Given the description of an element on the screen output the (x, y) to click on. 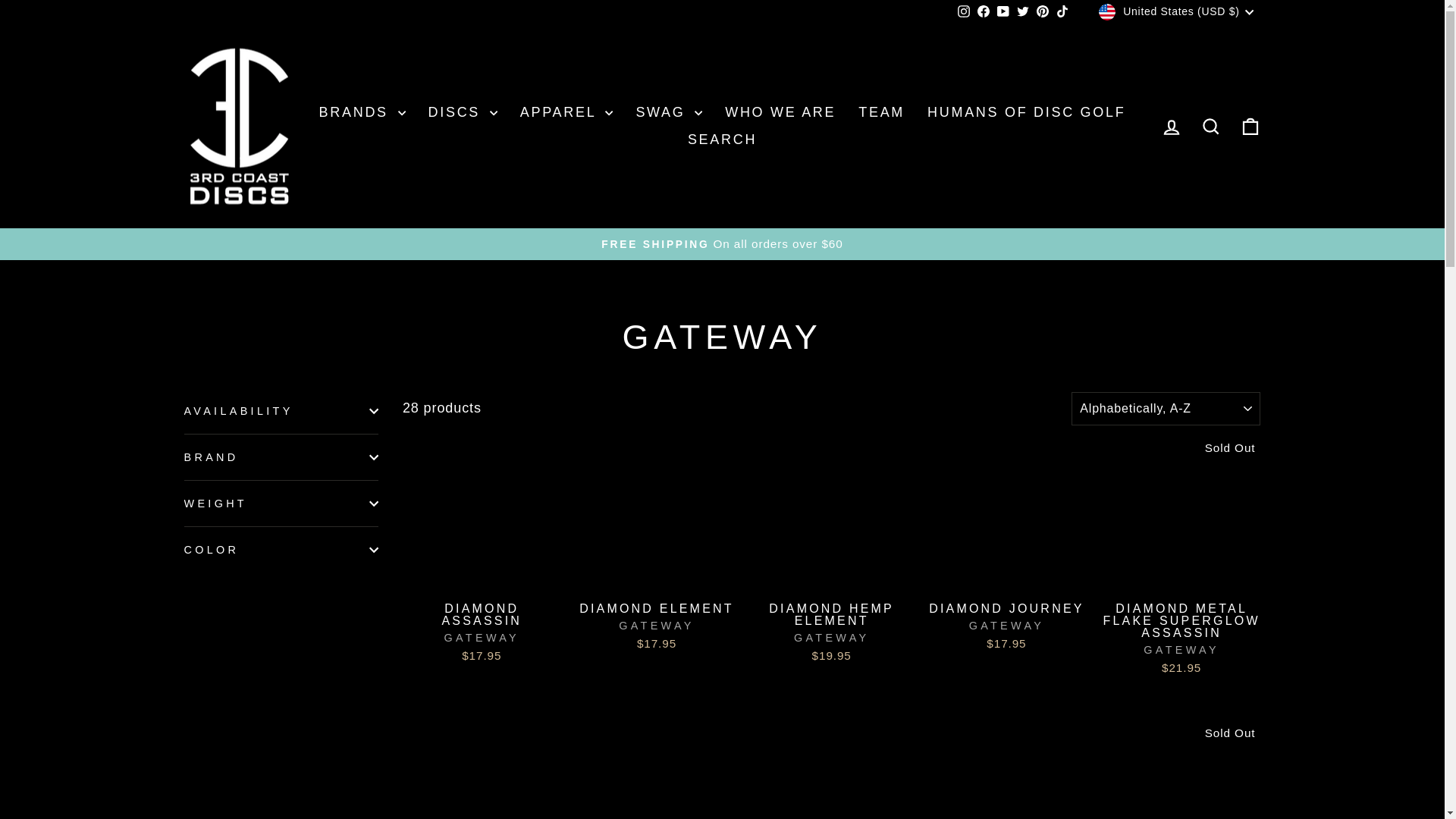
COLOR Element type: text (280, 549)
Facebook Element type: text (983, 11)
twitter
Twitter Element type: text (1022, 11)
Pinterest Element type: text (1042, 11)
ICON-SEARCH
SEARCH Element type: text (1210, 125)
DIAMOND ELEMENT
GATEWAY
$17.95 Element type: text (656, 625)
SEARCH Element type: text (722, 140)
DIAMOND JOURNEY
GATEWAY
$17.95 Element type: text (1006, 625)
ICON-BAG-MINIMAL
CART Element type: text (1249, 125)
WHO WE ARE Element type: text (780, 112)
TikTok Element type: text (1062, 11)
DIAMOND HEMP ELEMENT
GATEWAY
$19.95 Element type: text (831, 631)
instagram
Instagram Element type: text (963, 11)
TEAM Element type: text (881, 112)
HUMANS OF DISC GOLF Element type: text (1026, 112)
BRAND Element type: text (280, 457)
YouTube Element type: text (1003, 11)
DIAMOND METAL FLAKE SUPERGLOW ASSASSIN
GATEWAY
$21.95 Element type: text (1181, 637)
DIAMOND ASSASSIN
GATEWAY
$17.95 Element type: text (481, 631)
AVAILABILITY Element type: text (280, 410)
United States (USD $) Element type: text (1178, 12)
ACCOUNT
LOG IN Element type: text (1170, 125)
WEIGHT Element type: text (280, 503)
